Given the description of an element on the screen output the (x, y) to click on. 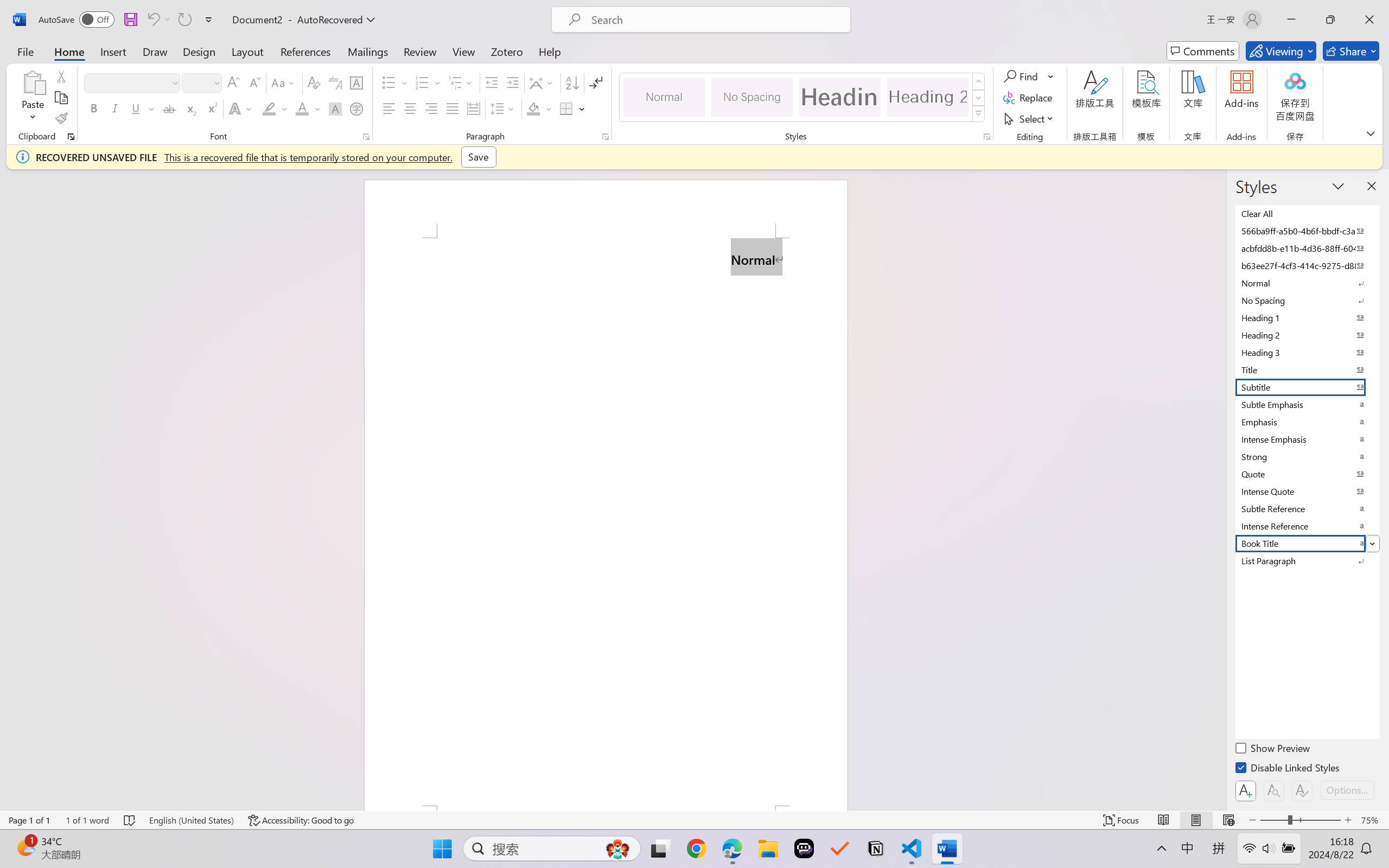
Format Painter (60, 118)
Can't Undo (152, 19)
Help (549, 51)
Subscript (190, 108)
Page 1 content (605, 521)
Office Clipboard... (70, 136)
Row Down (978, 97)
Italic (115, 108)
